Given the description of an element on the screen output the (x, y) to click on. 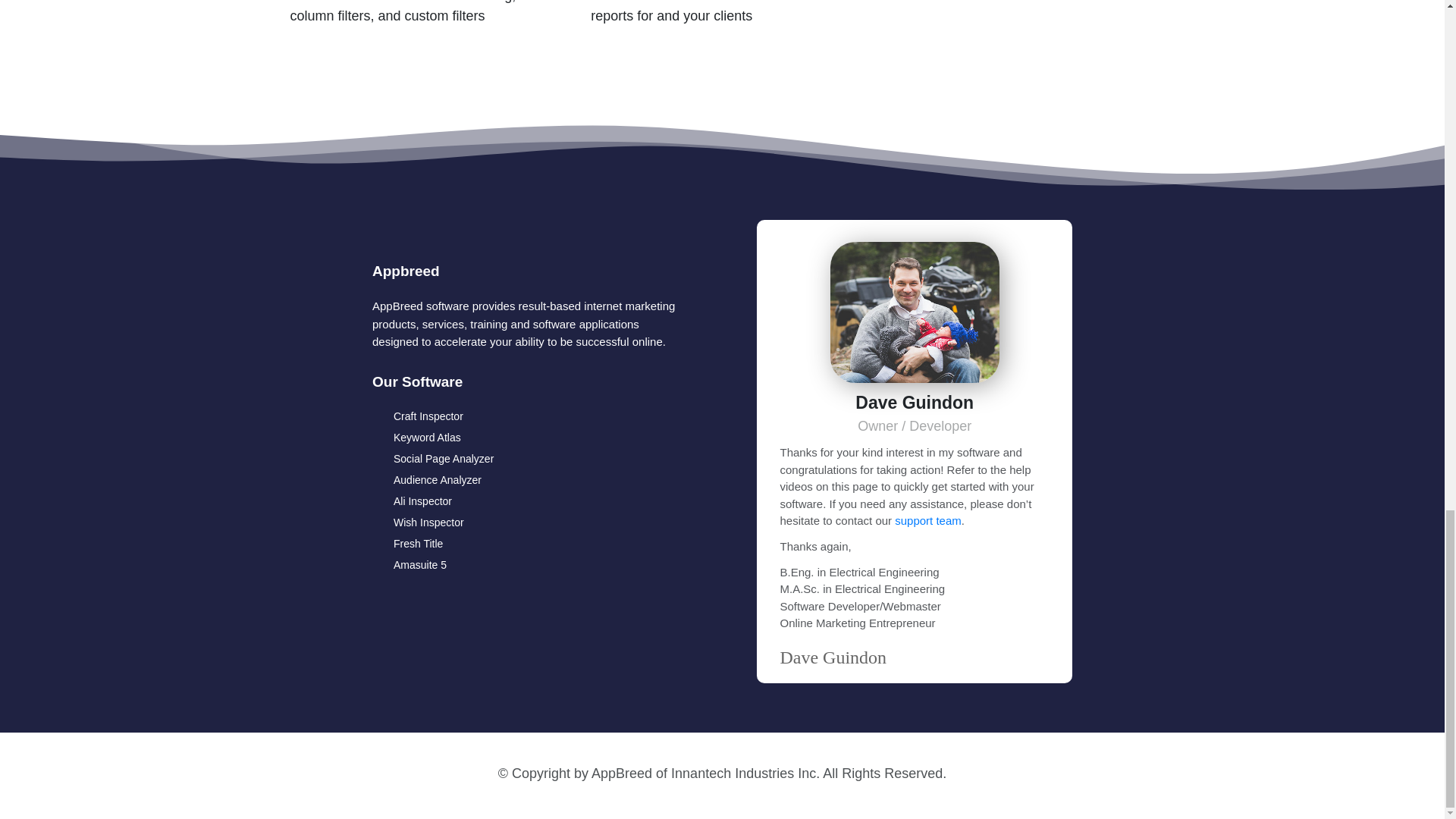
Amasuite 5 (419, 565)
Keyword Atlas (427, 437)
Ali Inspector (422, 501)
dave-brody-small-2 (913, 312)
Craft Inspector (428, 416)
Audience Analyzer (437, 479)
Fresh Title (417, 543)
Social Page Analyzer (443, 458)
Wish Inspector (428, 522)
support team (927, 520)
